Given the description of an element on the screen output the (x, y) to click on. 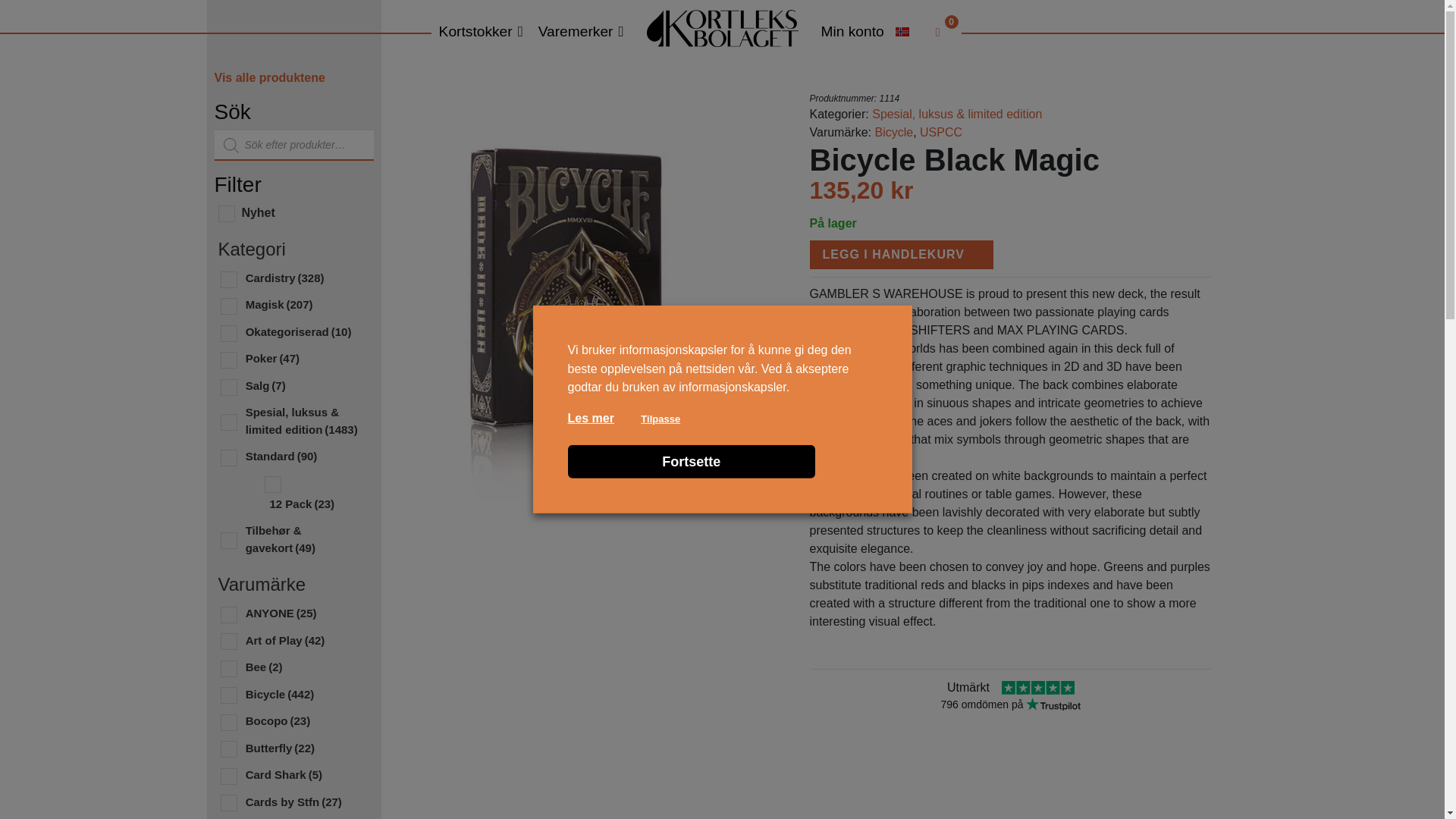
Kortleksbolaget (721, 27)
Varemerker (581, 31)
Kortstokker (480, 31)
Min konto (851, 31)
Kortstokker (480, 31)
Varemerker (581, 31)
Vis alle produktene (269, 77)
